Given the description of an element on the screen output the (x, y) to click on. 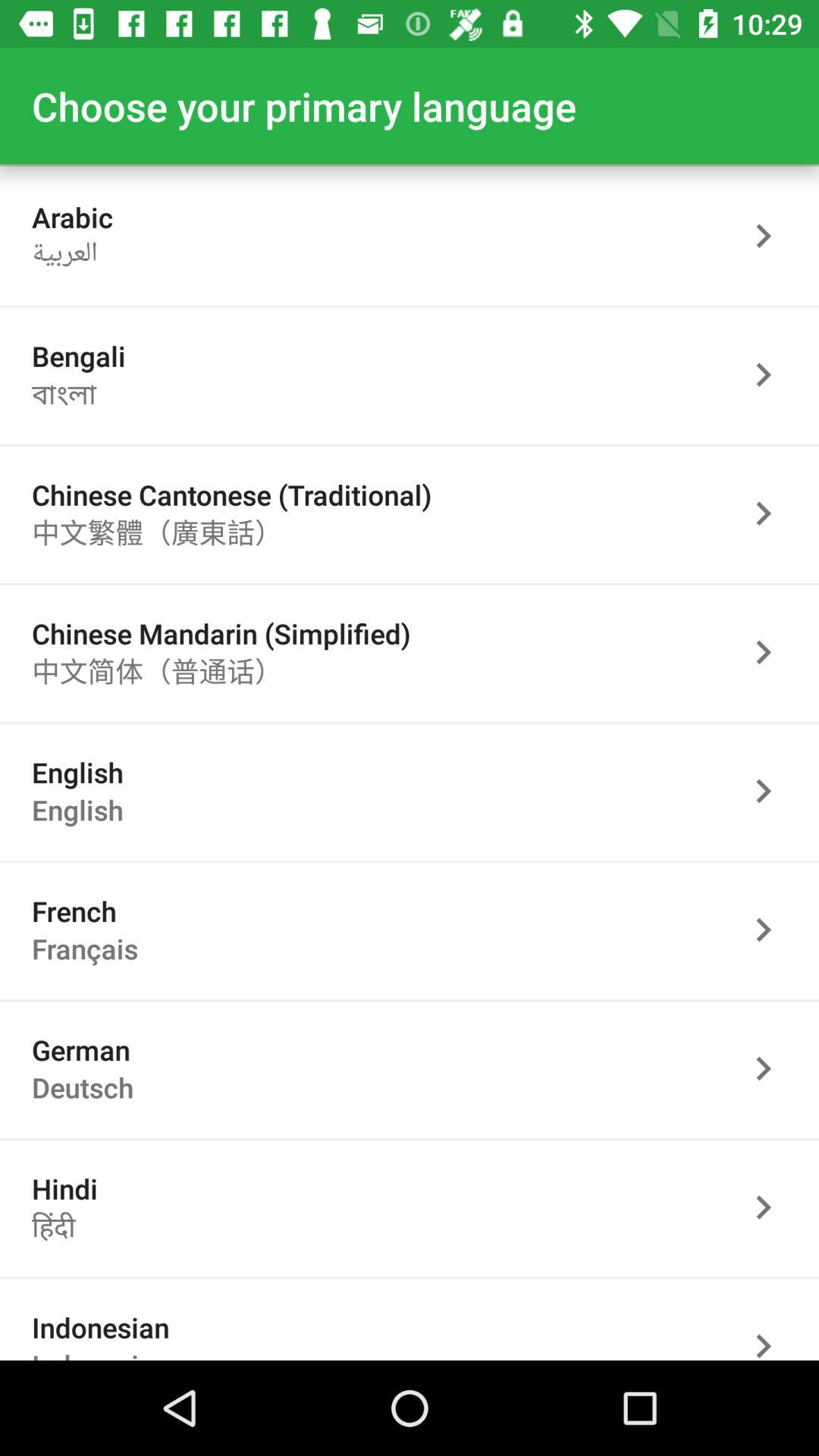
choose selected language (771, 652)
